Given the description of an element on the screen output the (x, y) to click on. 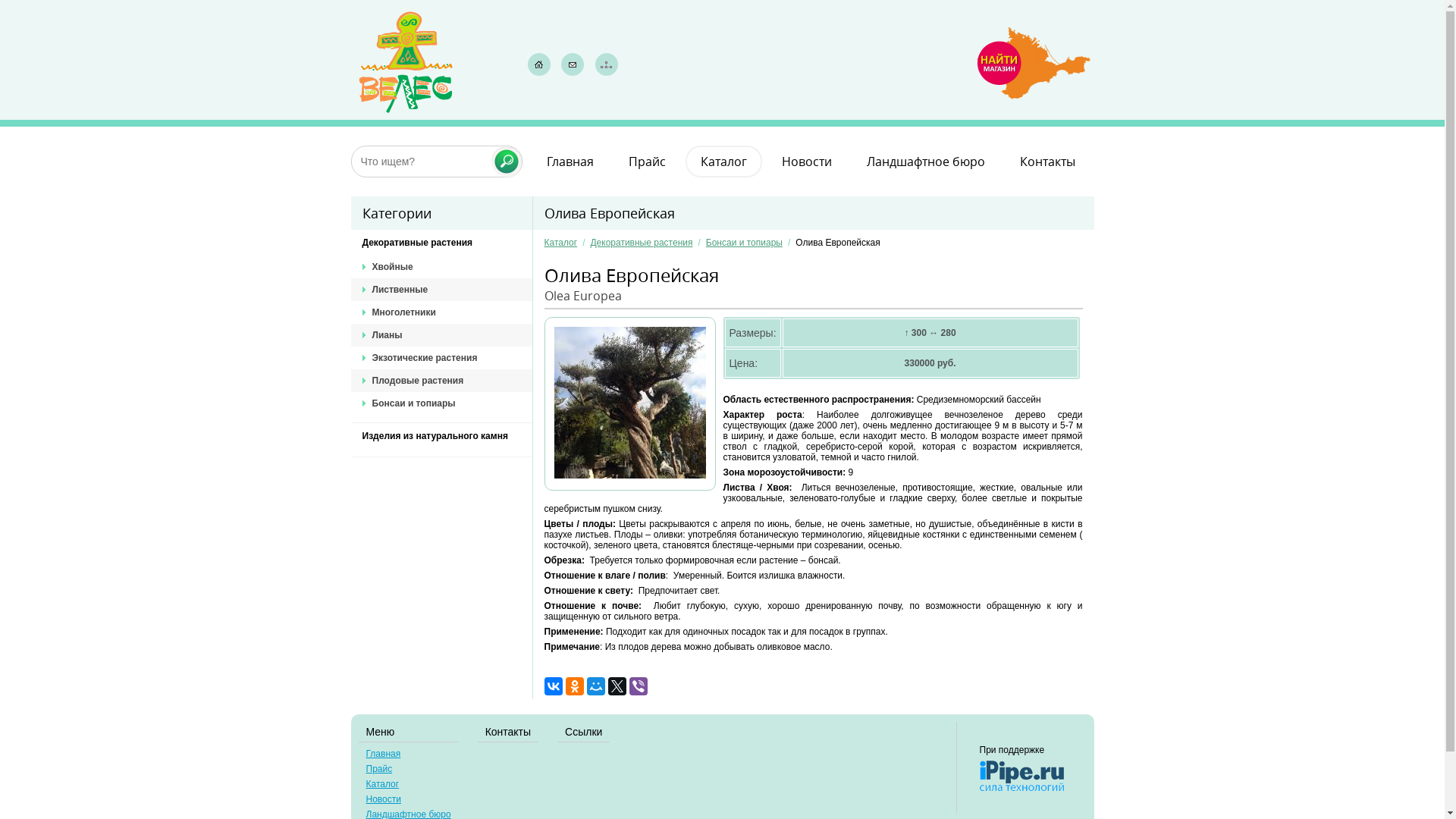
Home Element type: hover (539, 64)
Twitter Element type: hover (617, 686)
Viber Element type: hover (638, 686)
Site Map Element type: hover (606, 64)
Contacts Element type: hover (572, 64)
